Given the description of an element on the screen output the (x, y) to click on. 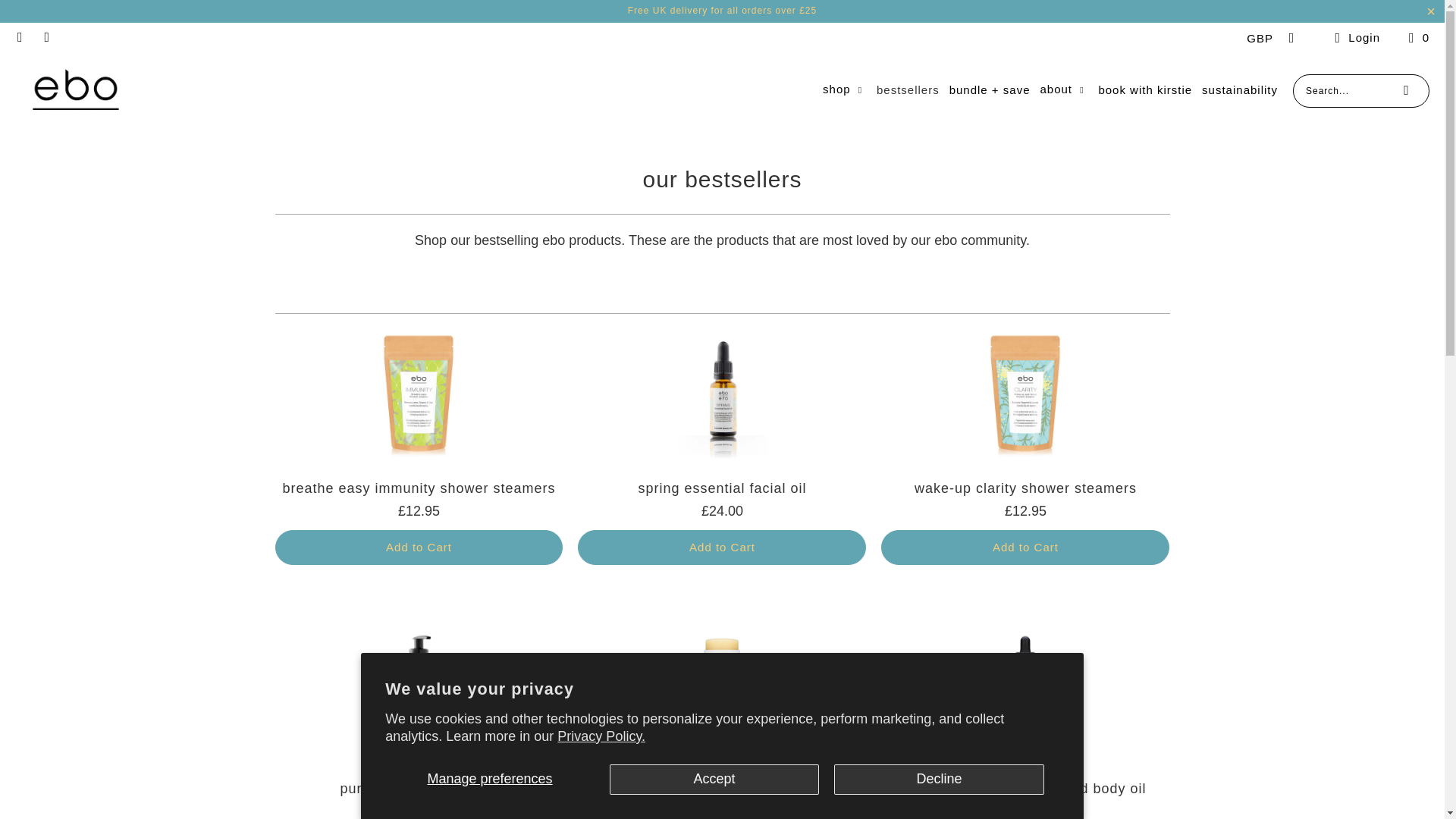
ebo beauty (75, 90)
ebo beauty on Facebook (19, 37)
ebo beauty on Instagram (47, 37)
My Account  (1354, 38)
